Given the description of an element on the screen output the (x, y) to click on. 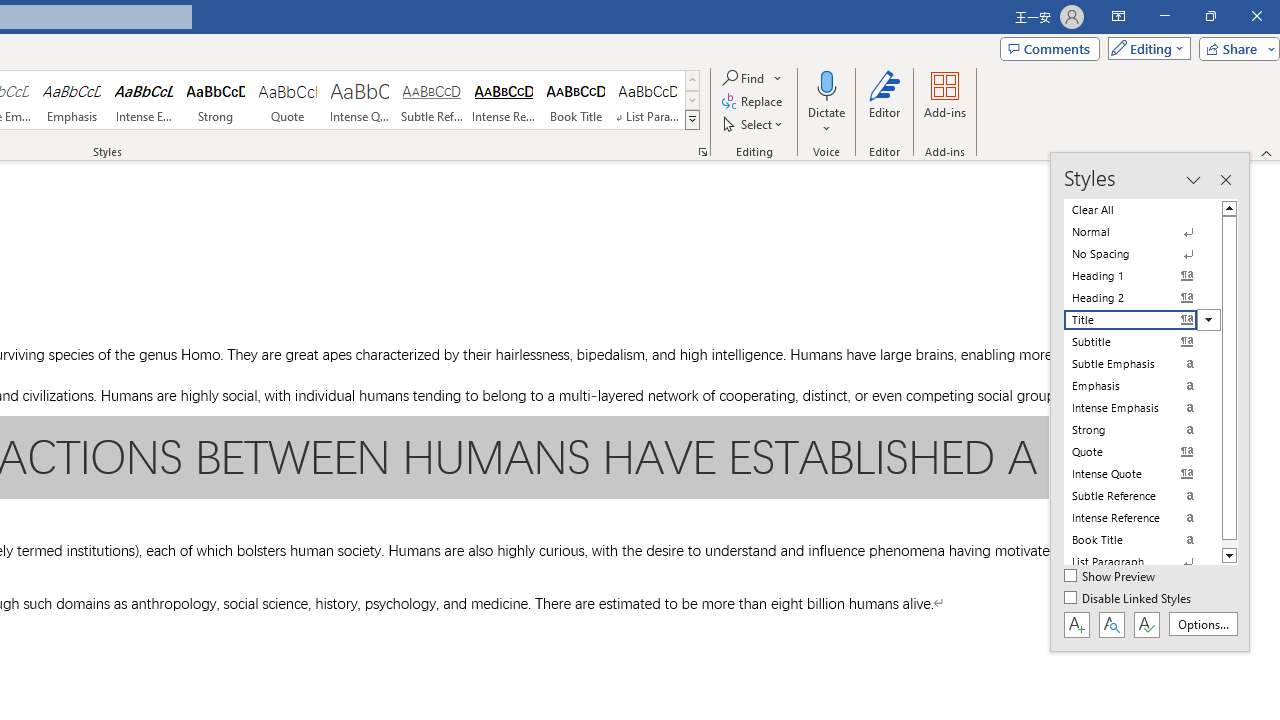
List Paragraph (1142, 561)
Quote (287, 100)
Show Preview (1110, 577)
